Given the description of an element on the screen output the (x, y) to click on. 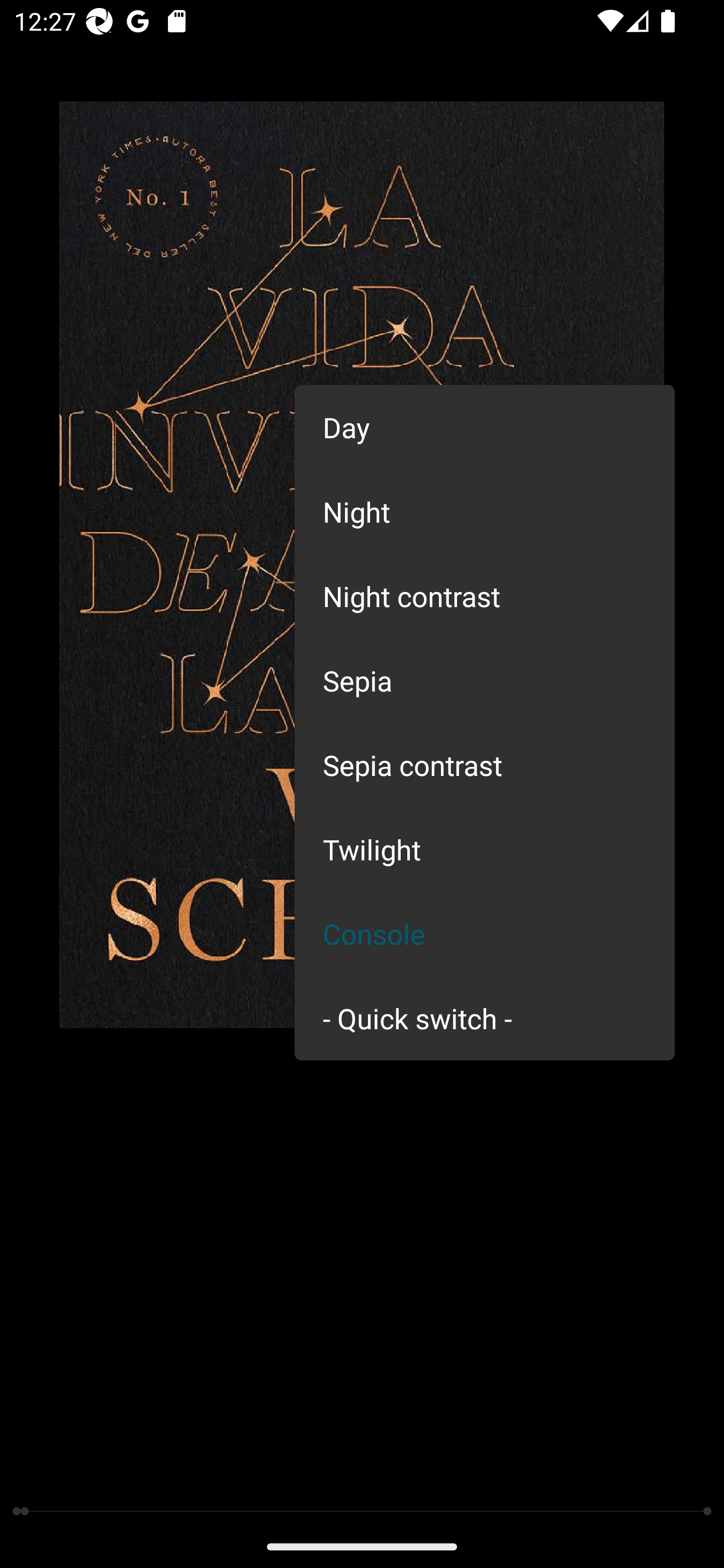
Day (484, 426)
Night (484, 510)
Night contrast (484, 595)
Sepia (484, 680)
Sepia contrast (484, 764)
Twilight (484, 849)
Console (484, 933)
- Quick switch - (484, 1017)
